Given the description of an element on the screen output the (x, y) to click on. 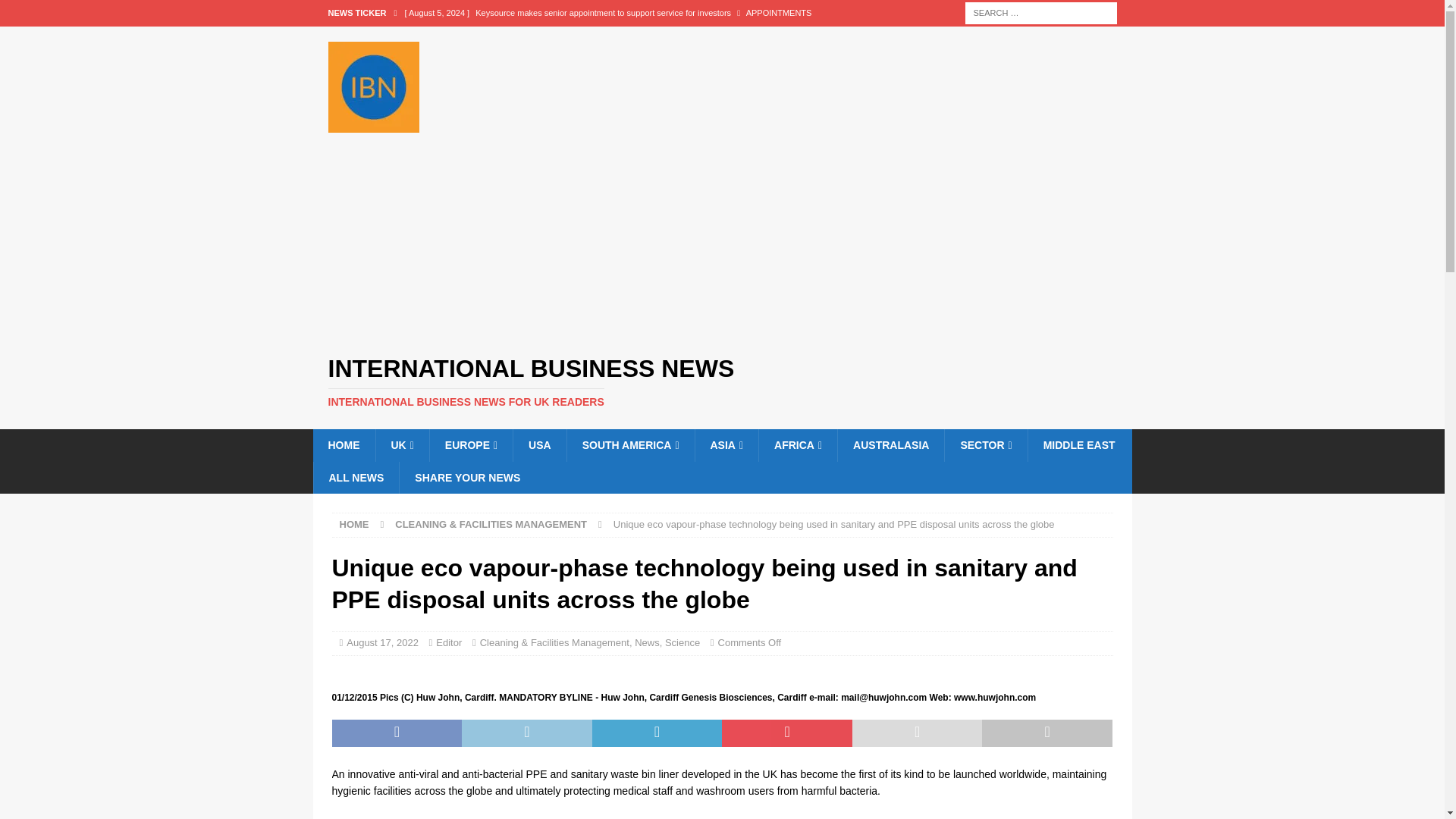
Search (56, 11)
International Business News (721, 381)
